Given the description of an element on the screen output the (x, y) to click on. 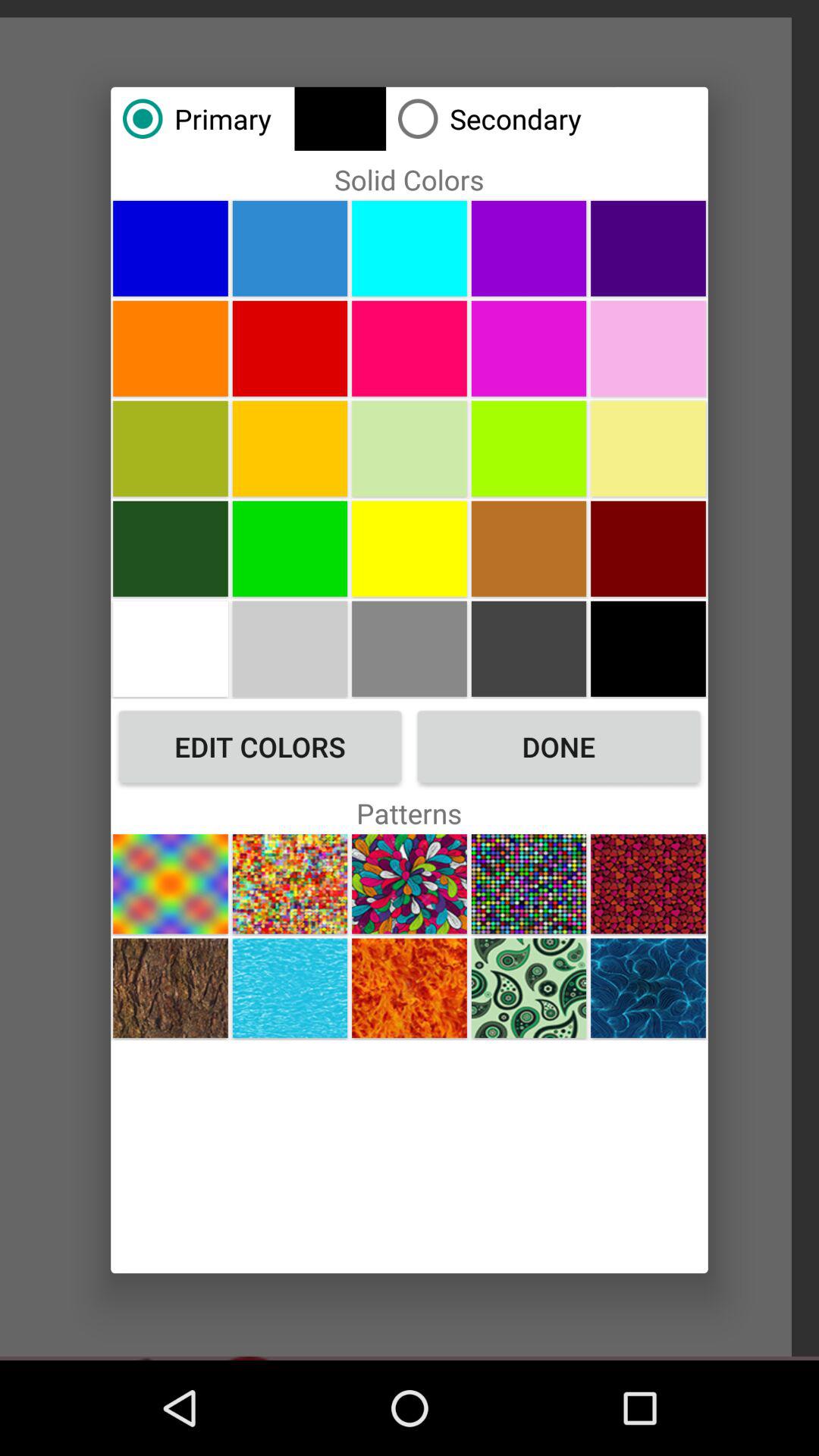
select color orange (170, 348)
